Given the description of an element on the screen output the (x, y) to click on. 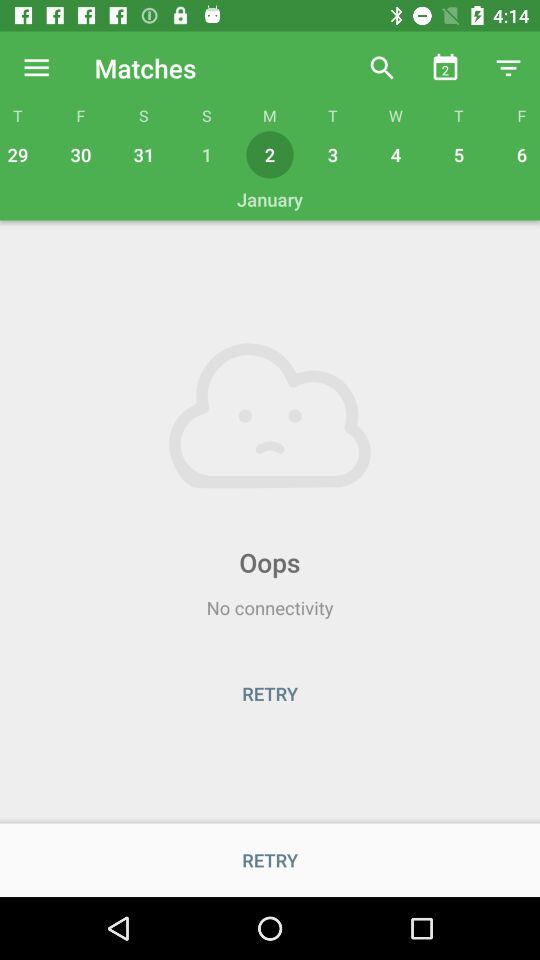
tap the icon above the w (381, 67)
